Given the description of an element on the screen output the (x, y) to click on. 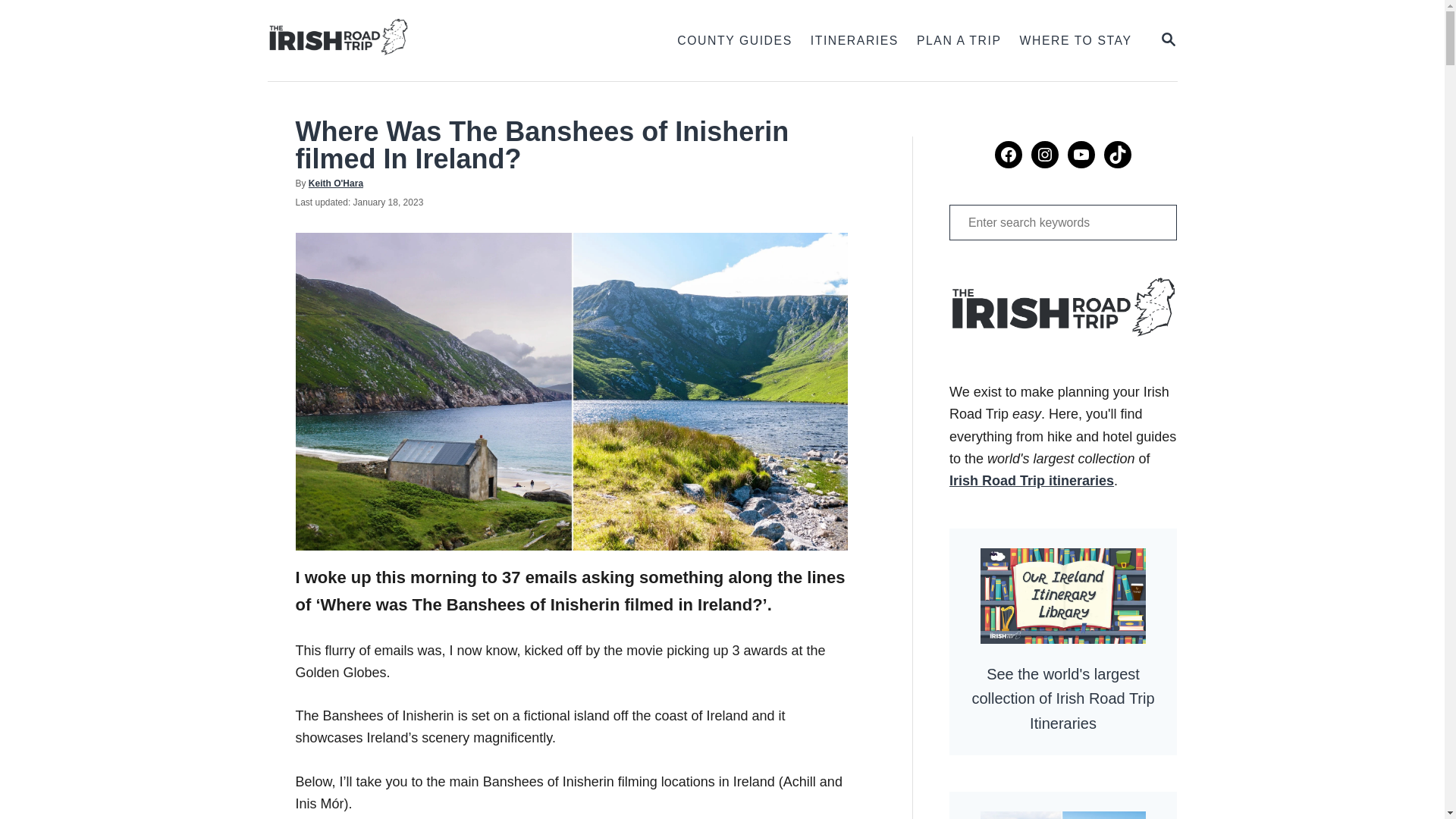
The Irish Road Trip (423, 40)
Keith O'Hara (335, 183)
MAGNIFYING GLASS (1167, 39)
WHERE TO STAY (1075, 40)
COUNTY GUIDES (734, 40)
ITINERARIES (1167, 40)
PLAN A TRIP (854, 40)
